Given the description of an element on the screen output the (x, y) to click on. 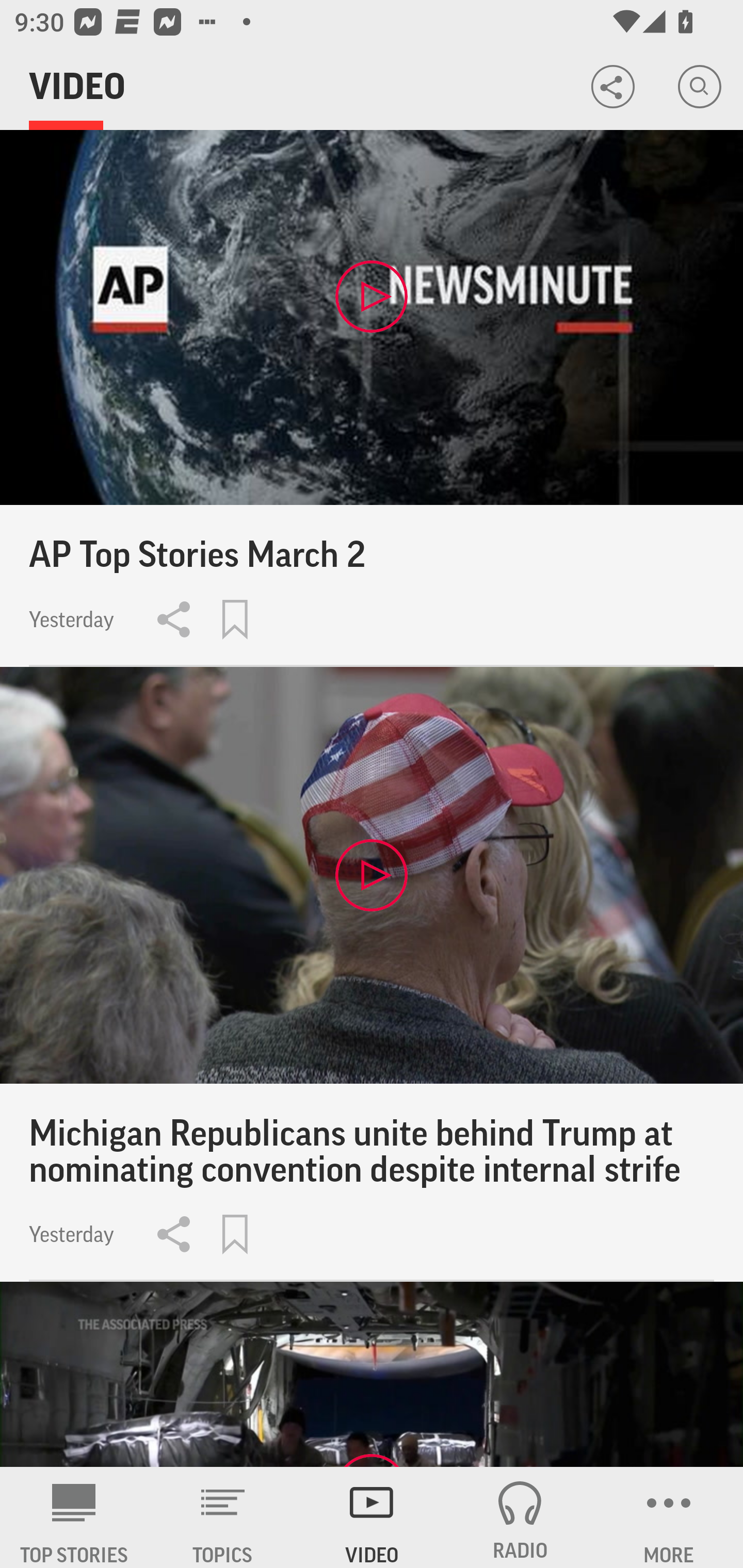
AP Top Stories March 2 Yesterday (371, 398)
AP News TOP STORIES (74, 1517)
TOPICS (222, 1517)
VIDEO (371, 1517)
RADIO (519, 1517)
MORE (668, 1517)
